Given the description of an element on the screen output the (x, y) to click on. 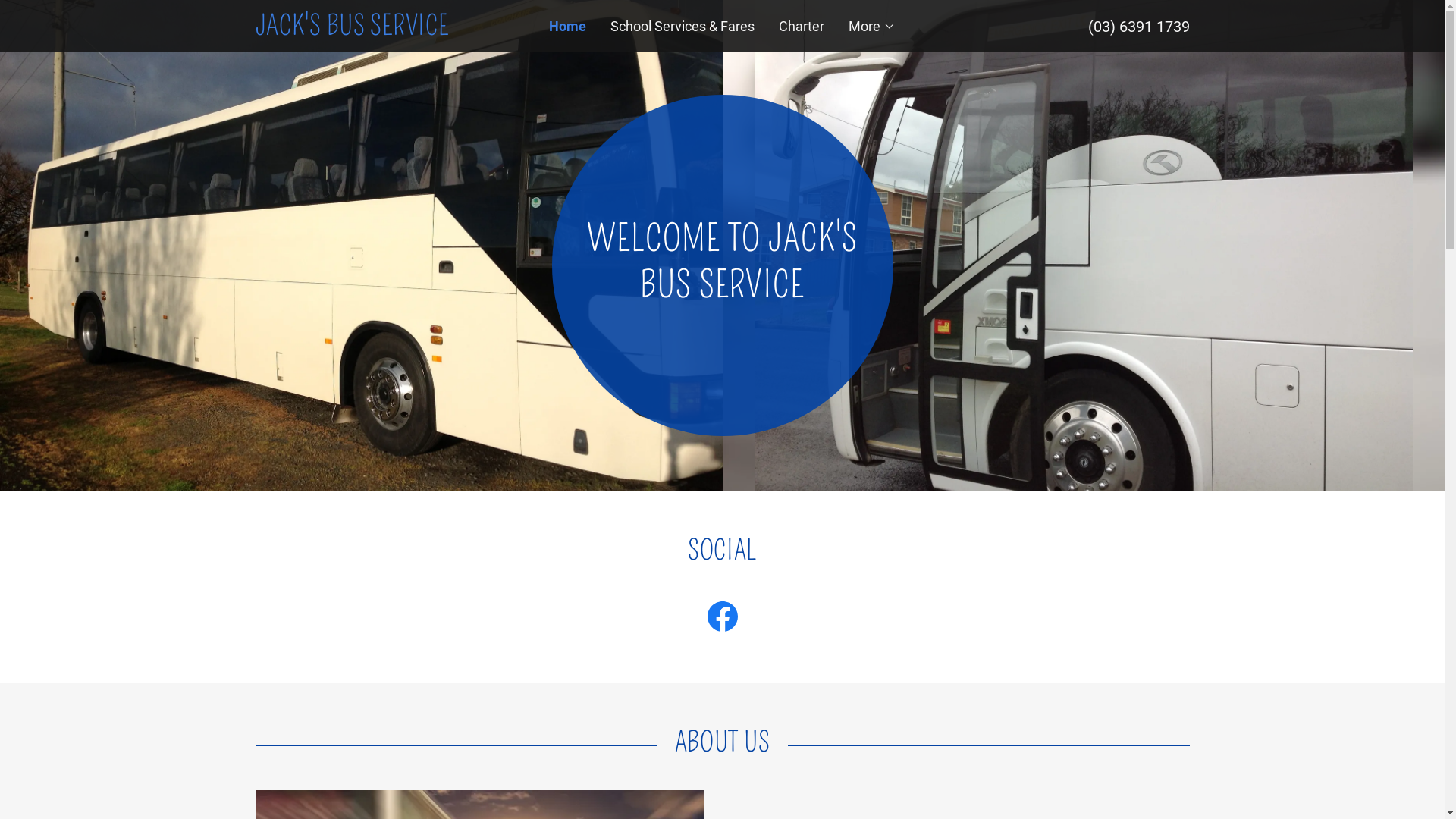
(03) 6391 1739 Element type: text (1138, 25)
More Element type: text (871, 25)
School Services & Fares Element type: text (682, 25)
Home Element type: text (567, 25)
Charter Element type: text (801, 25)
JACK'S BUS SERVICE Element type: text (371, 29)
